Given the description of an element on the screen output the (x, y) to click on. 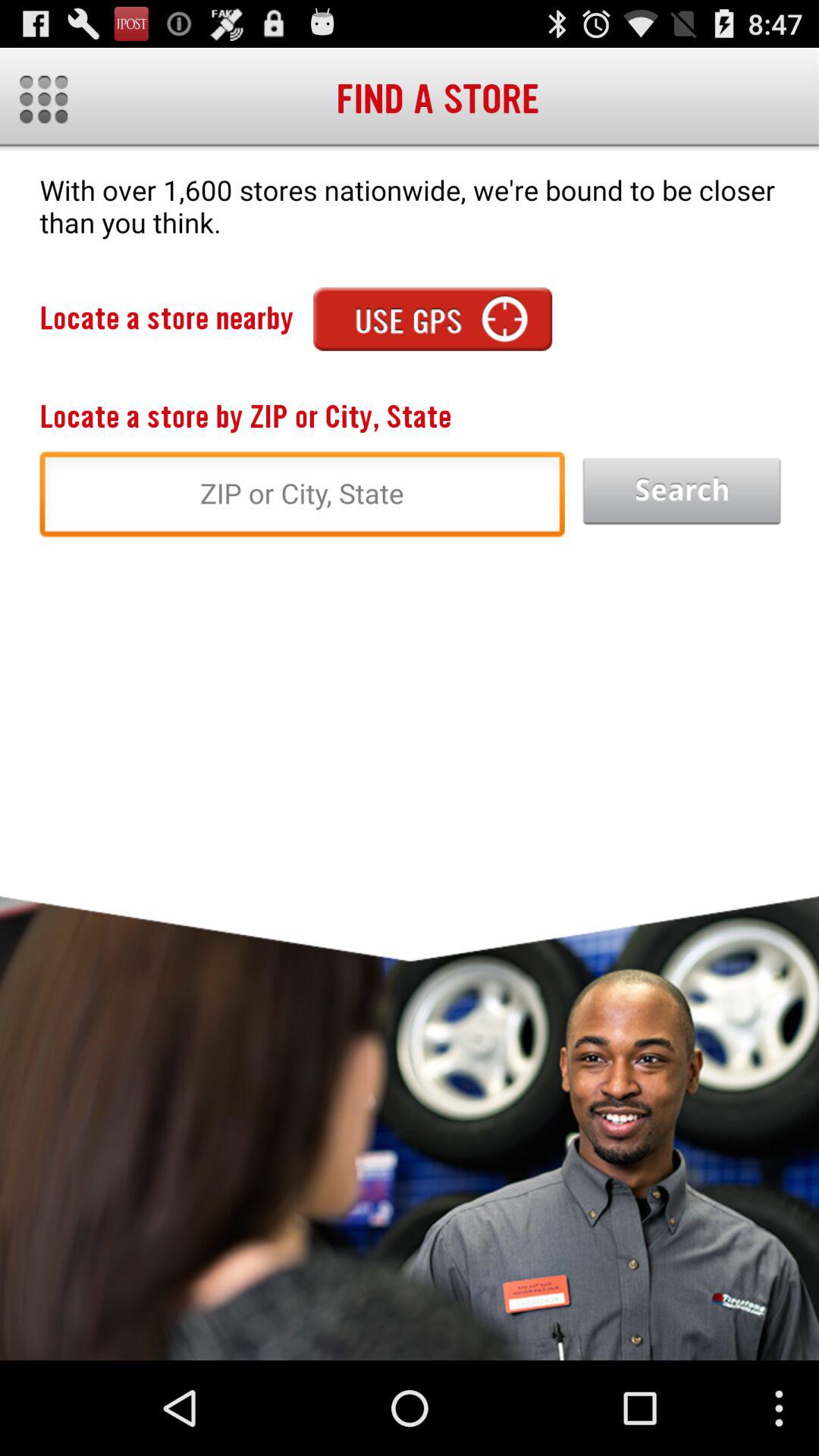
click app above the locate a store icon (432, 318)
